Given the description of an element on the screen output the (x, y) to click on. 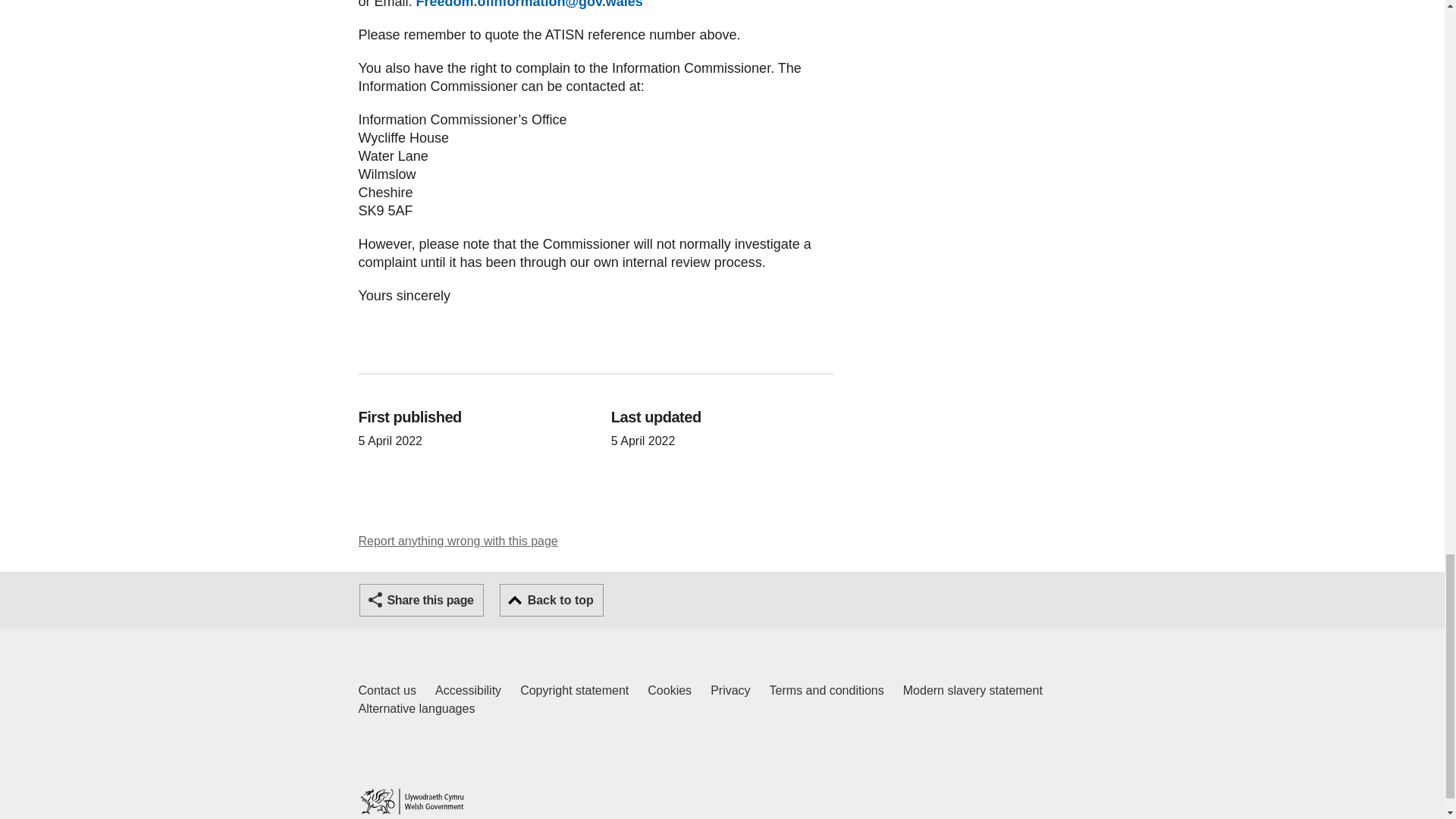
Privacy (729, 690)
Report anything wrong with this page (457, 540)
Home (411, 801)
Copyright statement (386, 690)
Cookies (573, 690)
Accessibility (669, 690)
Terms and conditions (467, 690)
Alternative languages (826, 690)
Modern slavery statement (416, 709)
Back to top (972, 690)
Share this page (551, 599)
